Given the description of an element on the screen output the (x, y) to click on. 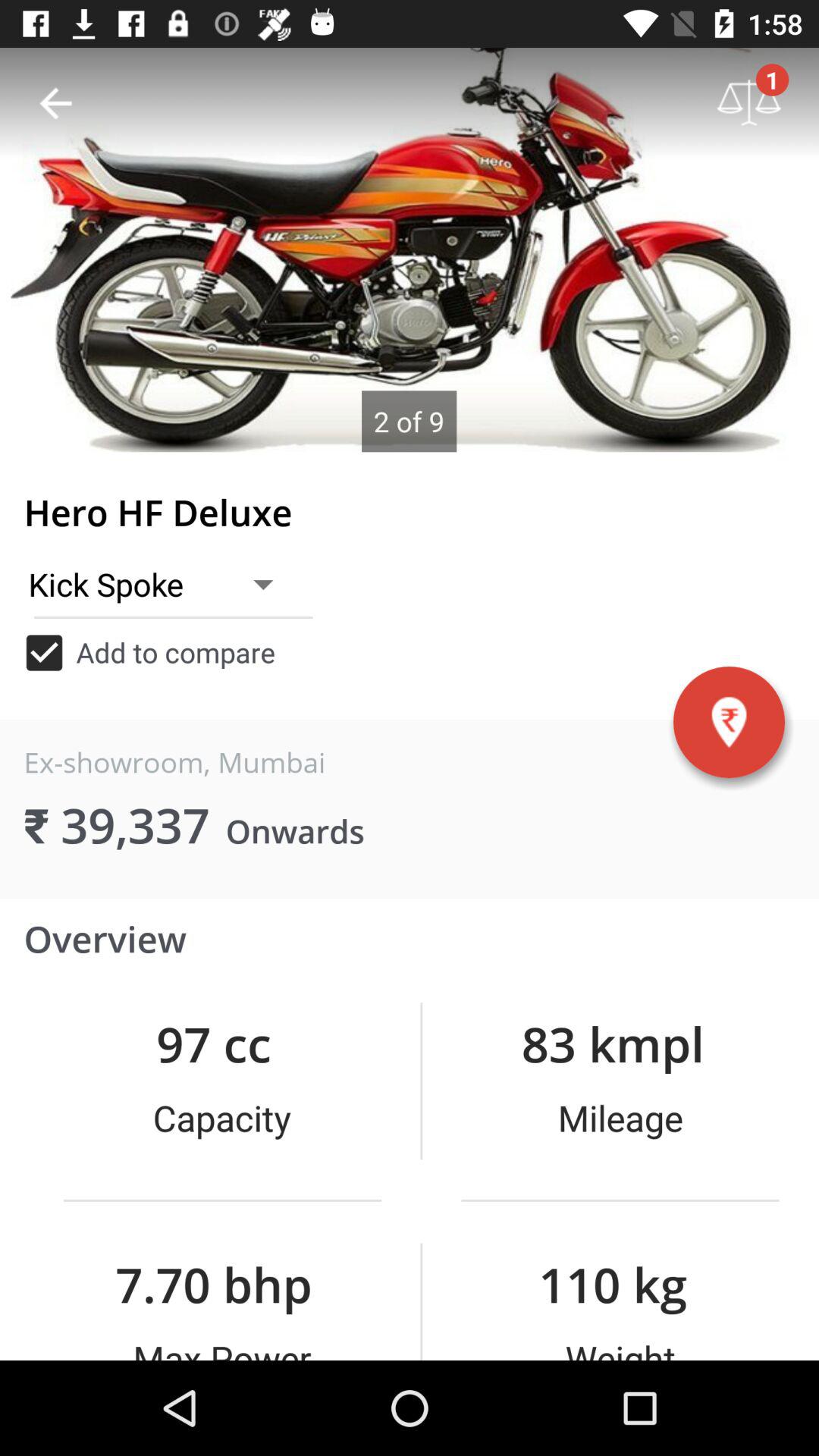
tap item above hero hf deluxe icon (409, 249)
